Given the description of an element on the screen output the (x, y) to click on. 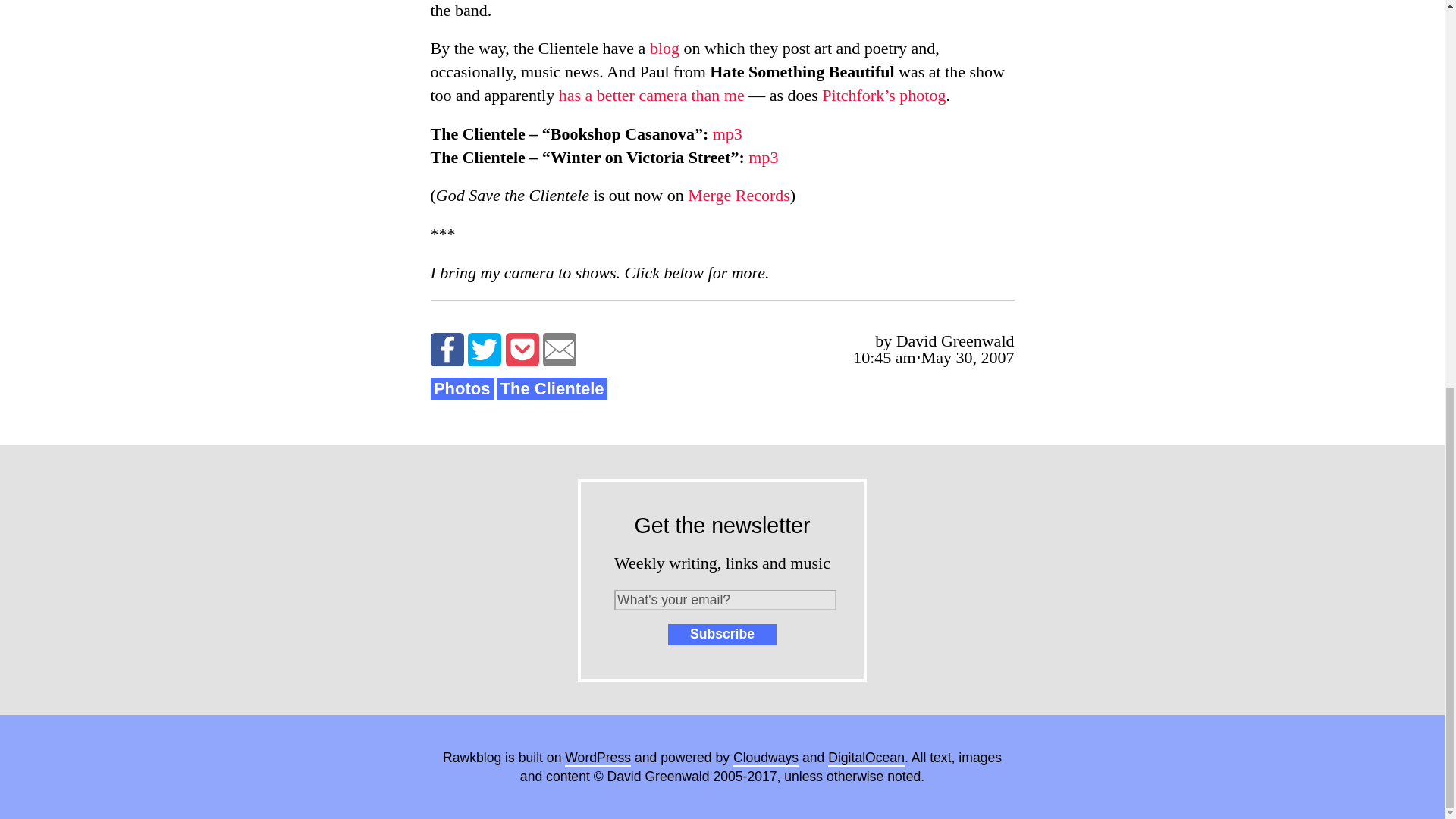
What's your email? (724, 599)
Photos (461, 389)
Subscribe (722, 634)
Merge Records (738, 194)
Email to a friend (559, 349)
DigitalOcean (866, 758)
mp3 (727, 133)
The Clientele (551, 389)
Subscribe (722, 634)
Share on Facebook (447, 349)
